Given the description of an element on the screen output the (x, y) to click on. 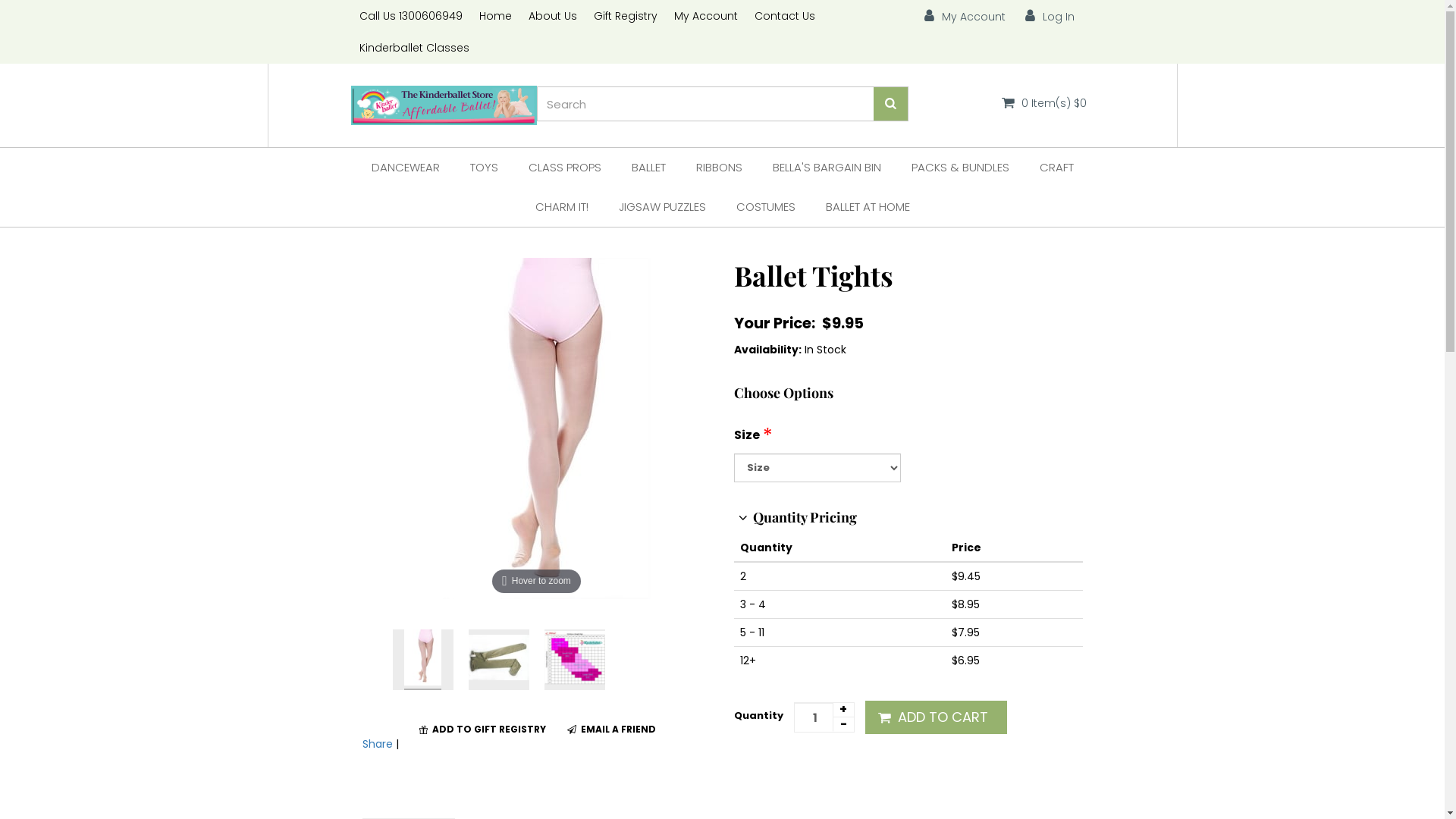
CLASS PROPS Element type: text (564, 167)
Call Us 1300606949 Element type: text (410, 15)
Home Element type: text (494, 15)
Quantity Pricing Element type: text (795, 517)
Share Element type: text (377, 743)
My Account Element type: text (705, 15)
Zoom in on Image(s)
Hover to zoom Element type: text (536, 427)
ADD TO CART Element type: text (935, 717)
Log In
My Account Element type: text (1047, 15)
CHARM IT! Element type: text (561, 206)
ADD TO GIFT REGISTRY Element type: text (481, 728)
TOYS Element type: text (483, 167)
DANCEWEAR Element type: text (405, 167)
Gift Registry Element type: text (625, 15)
About Us Element type: text (552, 15)
BELLA'S BARGAIN BIN Element type: text (826, 167)
EMAIL A FRIEND Element type: text (610, 728)
Thumbnail Element type: text (574, 659)
COSTUMES Element type: text (764, 206)
BALLET Element type: text (647, 167)
My Account
My Account Element type: text (962, 15)
+ Element type: text (842, 709)
CRAFT Element type: text (1055, 167)
Submit Element type: text (732, 733)
Thumbnail Element type: text (422, 659)
- Element type: text (842, 724)
BALLET AT HOME Element type: text (866, 206)
RIBBONS Element type: text (719, 167)
Kinderballet Classes Element type: text (413, 47)
0 Item(s) $0
Shopping Cart Element type: text (1041, 101)
Thumbnail Element type: text (498, 659)
Contact Us Element type: text (784, 15)
JIGSAW PUZZLES Element type: text (662, 206)
PACKS & BUNDLES Element type: text (959, 167)
